Given the description of an element on the screen output the (x, y) to click on. 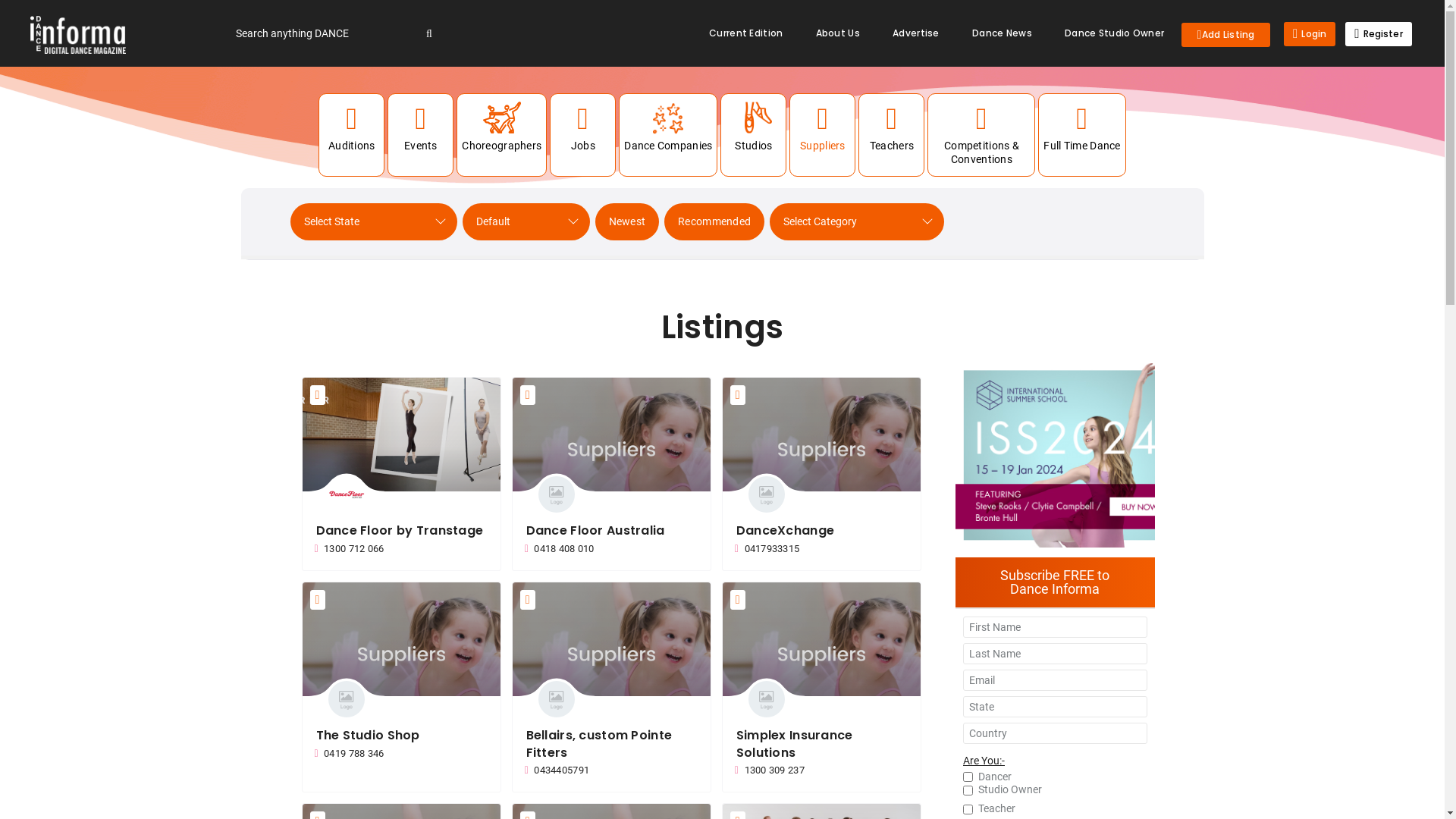
Simplex Insurance Solutions Element type: text (794, 743)
Dance News Element type: text (1002, 33)
0419 788 346 Element type: text (399, 753)
Teachers Element type: text (891, 128)
Studios Element type: text (753, 128)
Add Listing Element type: text (1225, 34)
0434405791 Element type: text (610, 769)
Auditions Element type: text (351, 128)
Dance Floor Australia Element type: text (595, 530)
Advertise Element type: text (915, 33)
Login Element type: text (1309, 33)
DanceXchange Element type: text (785, 530)
Dance Studio Owner Element type: text (1114, 33)
Register Element type: text (1378, 33)
Dance Companies Element type: text (667, 128)
Newest Element type: text (626, 221)
Jobs Element type: text (582, 128)
1300 309 237 Element type: text (820, 769)
Bellairs, custom Pointe Fitters Element type: text (598, 743)
About Us Element type: text (837, 33)
0417933315 Element type: text (820, 548)
Current Edition Element type: text (745, 33)
Choreographers Element type: text (501, 128)
Full Time Dance Element type: text (1081, 128)
1300 712 066 Element type: text (399, 548)
The Studio Shop Element type: text (367, 734)
Recommended Element type: text (714, 221)
Events Element type: text (420, 128)
Suppliers Element type: text (822, 128)
Competitions & Conventions Element type: text (981, 134)
Dance Floor by Transtage Element type: text (399, 530)
0418 408 010 Element type: text (610, 548)
